Given the description of an element on the screen output the (x, y) to click on. 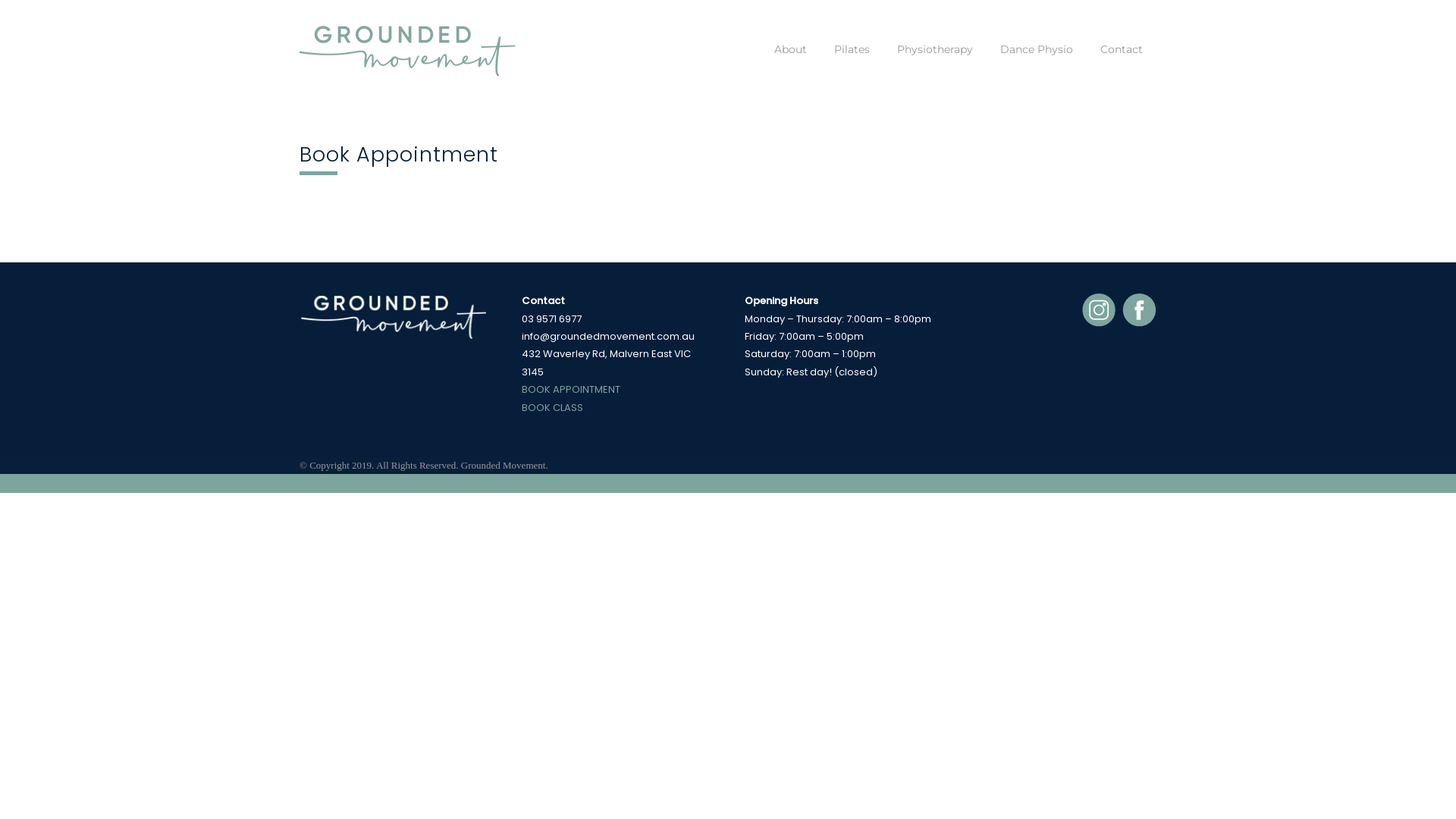
Grounded Movement Element type: hover (412, 48)
Contact Element type: text (1121, 60)
Pilates Element type: text (851, 60)
BOOK APPOINTMENT Element type: text (570, 389)
BOOK CLASS Element type: text (552, 407)
Dance Physio Element type: text (1036, 60)
Physiotherapy Element type: text (934, 60)
info@groundedmovement.com.au Element type: text (607, 336)
Skip to content Element type: text (32, 9)
About Element type: text (790, 60)
